Given the description of an element on the screen output the (x, y) to click on. 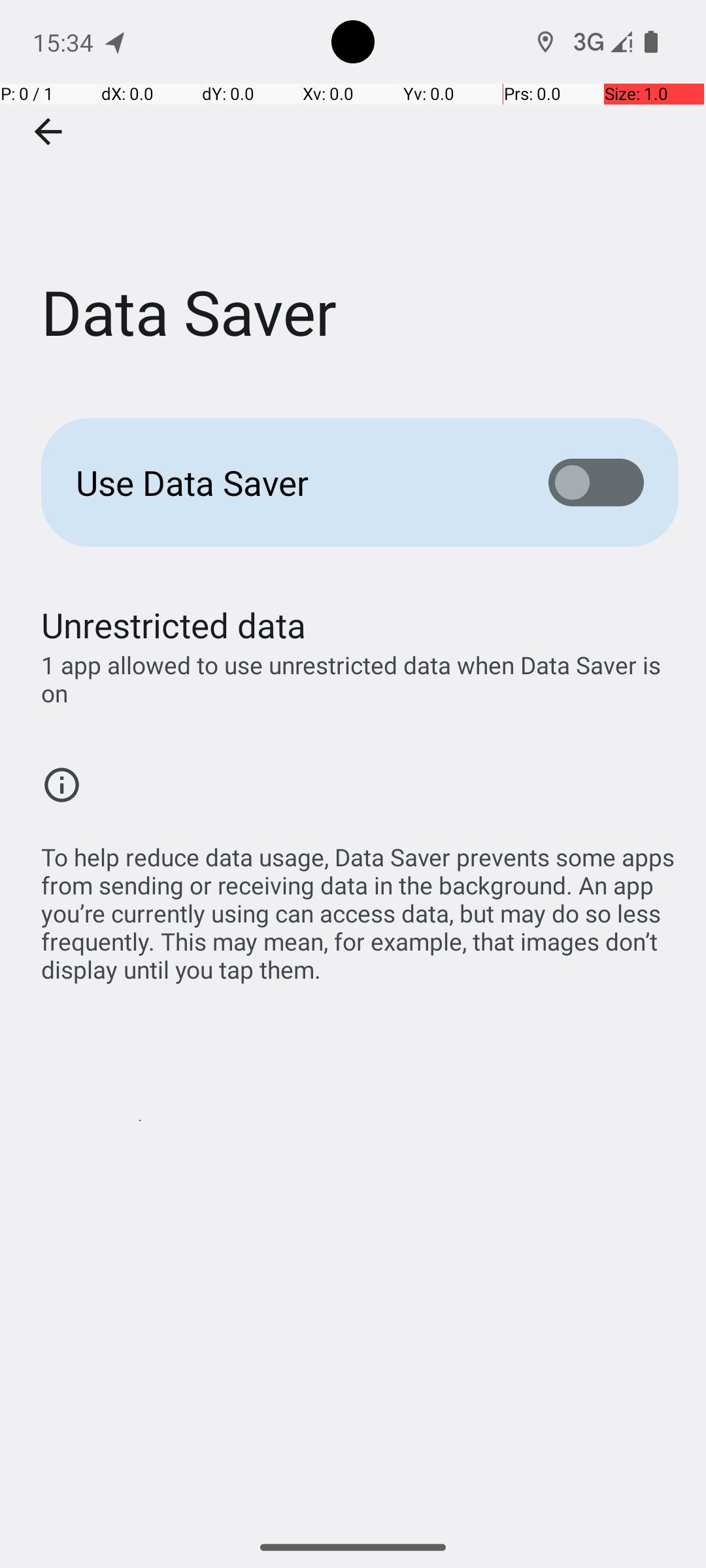
Data Saver Element type: android.widget.FrameLayout (353, 195)
Use Data Saver Element type: android.widget.TextView (291, 482)
Unrestricted data Element type: android.widget.TextView (173, 624)
1 app allowed to use unrestricted data when Data Saver is on Element type: android.widget.TextView (359, 678)
To help reduce data usage, Data Saver prevents some apps from sending or receiving data in the background. An app you’re currently using can access data, but may do so less frequently. This may mean, for example, that images don’t display until you tap them. Element type: android.widget.TextView (359, 905)
